Given the description of an element on the screen output the (x, y) to click on. 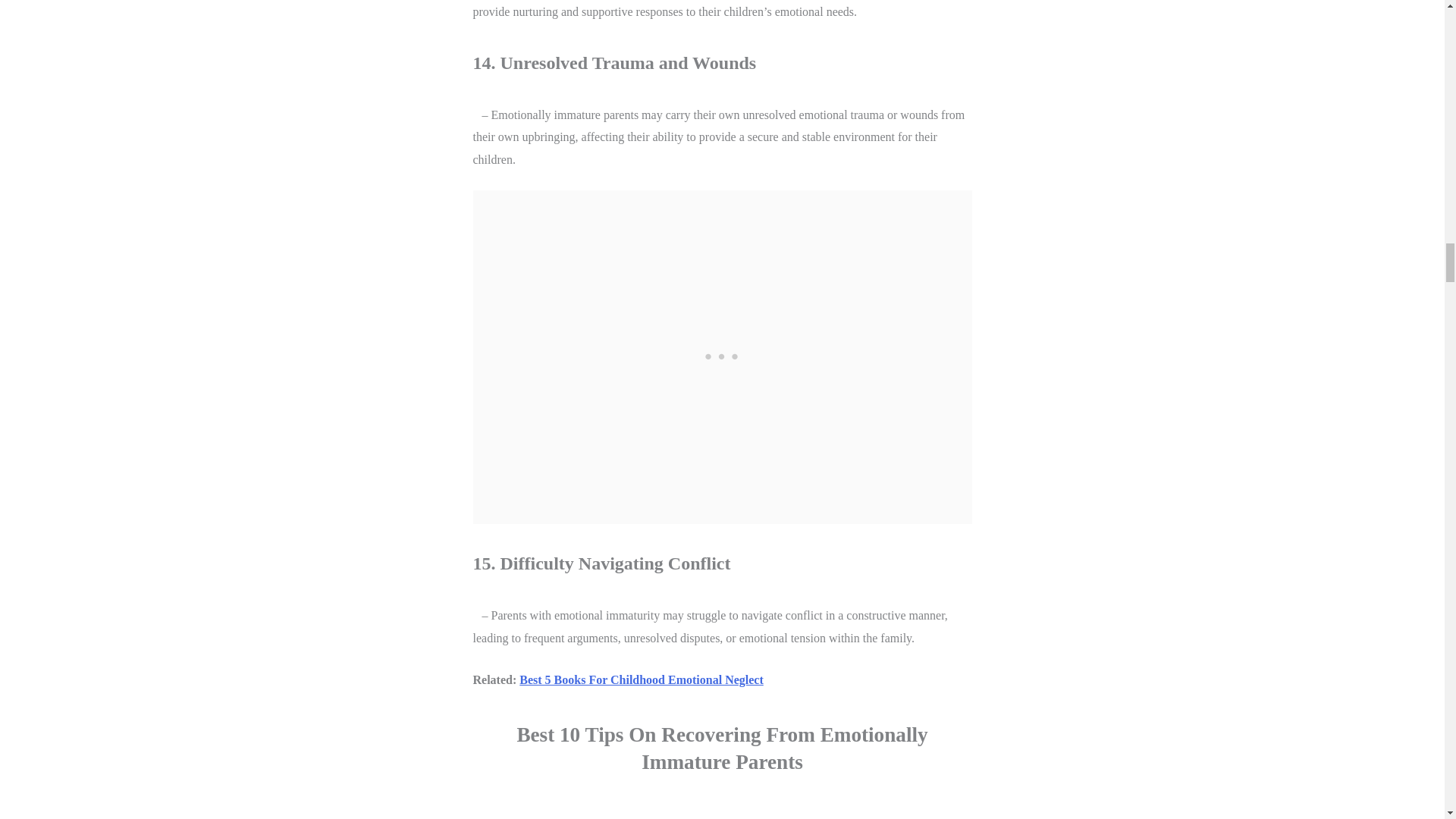
Best 5 Books For Childhood Emotional Neglect (640, 679)
